Given the description of an element on the screen output the (x, y) to click on. 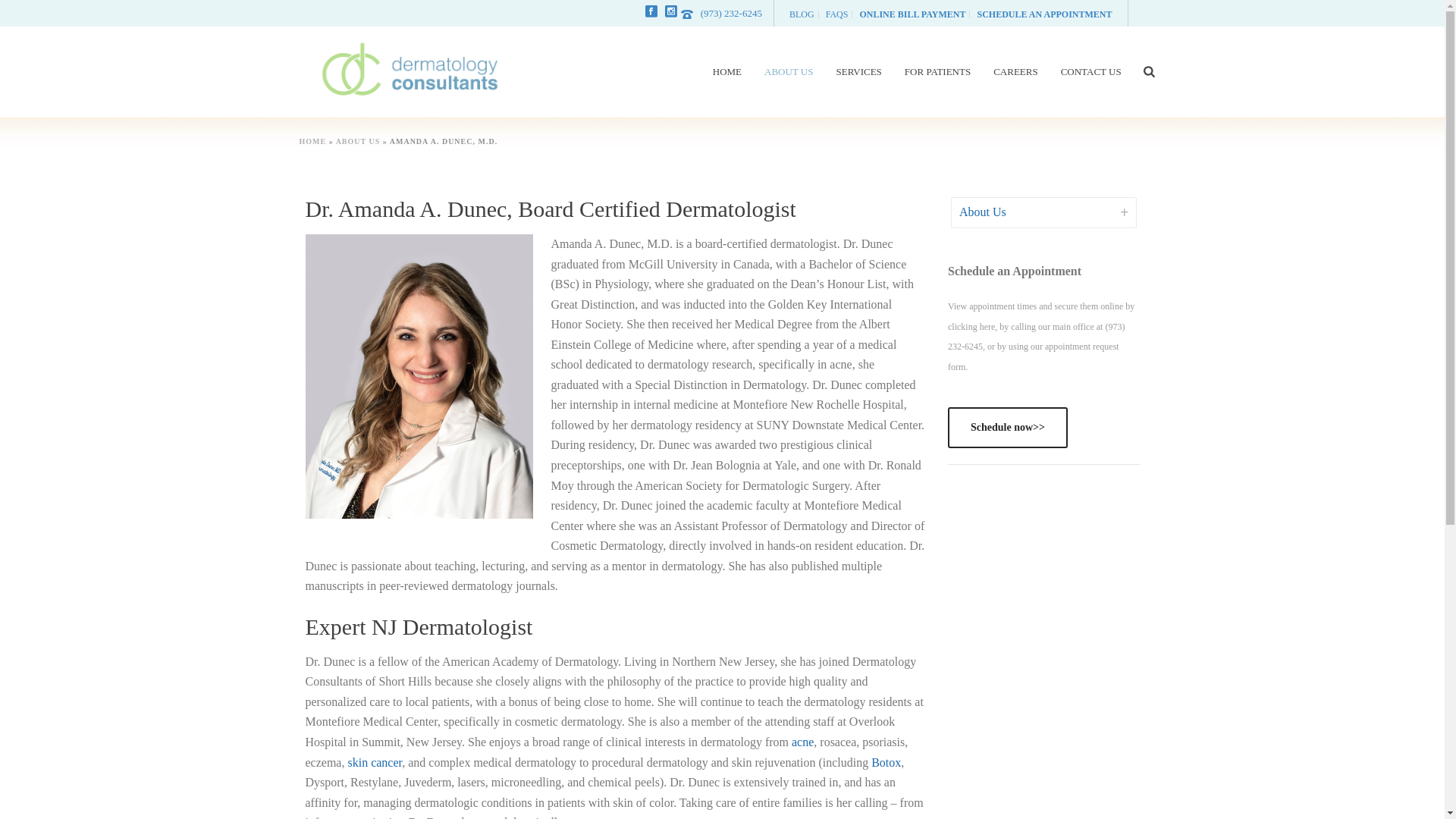
ONLINE BILL PAYMENT (912, 14)
CONTACT US (1090, 71)
FAQS (837, 14)
A Skin Cancer and Laser Center (409, 71)
SCHEDULE AN APPOINTMENT (1043, 14)
BLOG (802, 14)
FOR PATIENTS (937, 71)
